Given the description of an element on the screen output the (x, y) to click on. 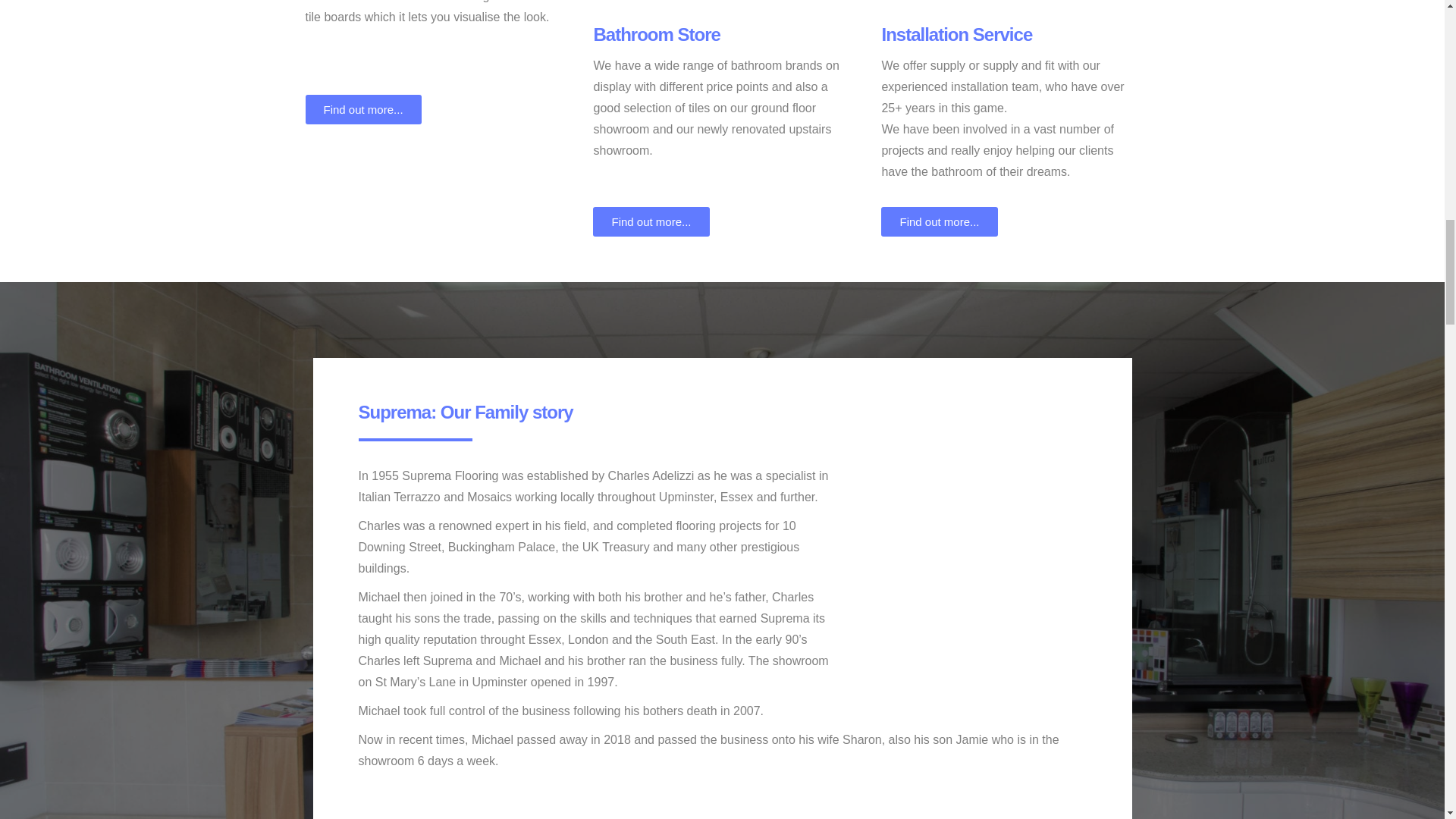
Bathroom Store (655, 34)
Find out more... (938, 221)
Installation Service (956, 34)
Find out more... (650, 221)
Find out more... (362, 109)
